Given the description of an element on the screen output the (x, y) to click on. 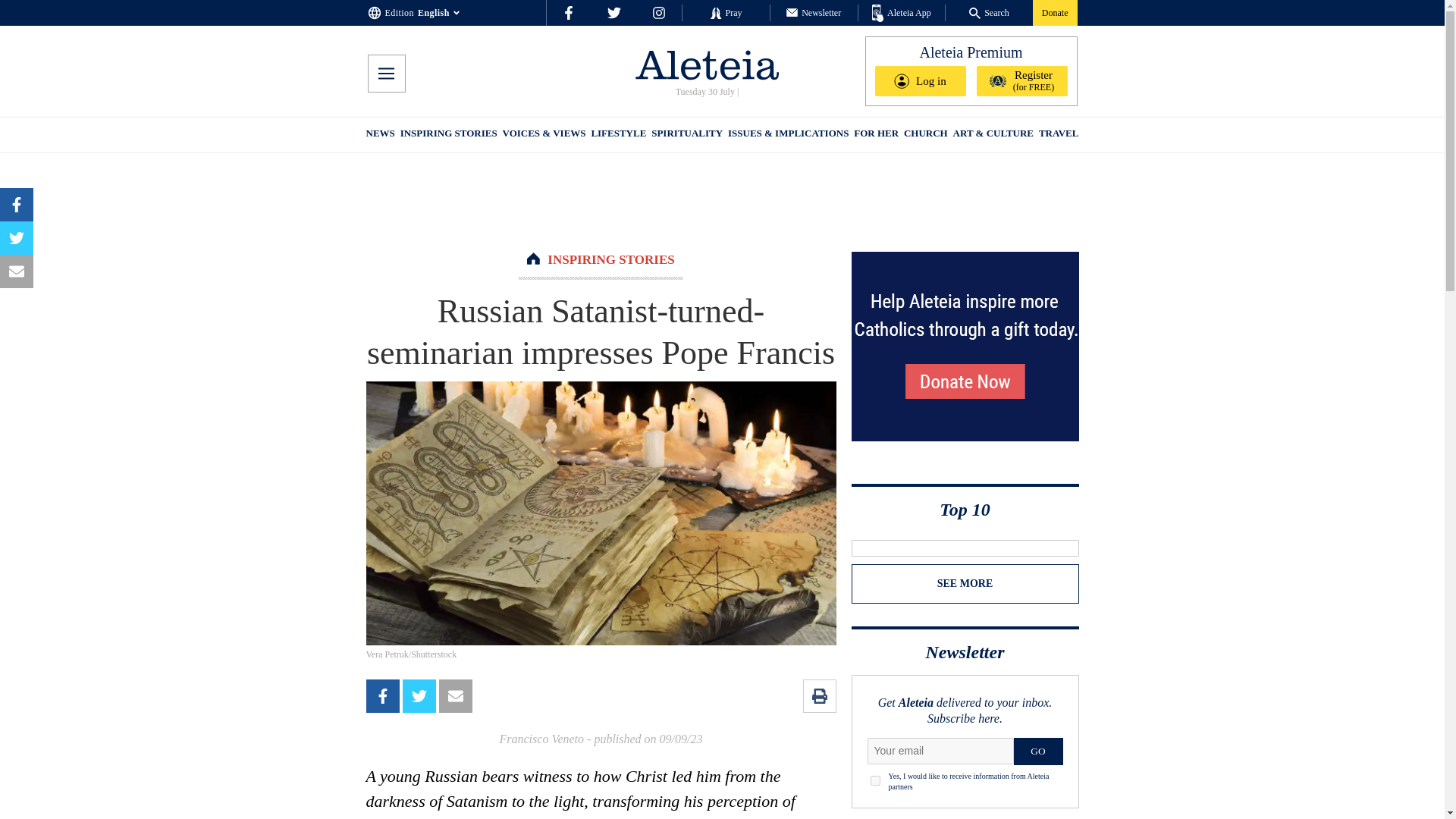
1 (875, 780)
Donate (1054, 12)
INSPIRING STORIES (448, 134)
Pray (725, 12)
CHURCH (925, 134)
SPIRITUALITY (686, 134)
INSPIRING STORIES (610, 259)
TRAVEL (1058, 134)
FOR HER (875, 134)
Aleteia App (901, 13)
Log in (920, 81)
Search (989, 12)
Newsletter (813, 12)
LIFESTYLE (618, 134)
